Given the description of an element on the screen output the (x, y) to click on. 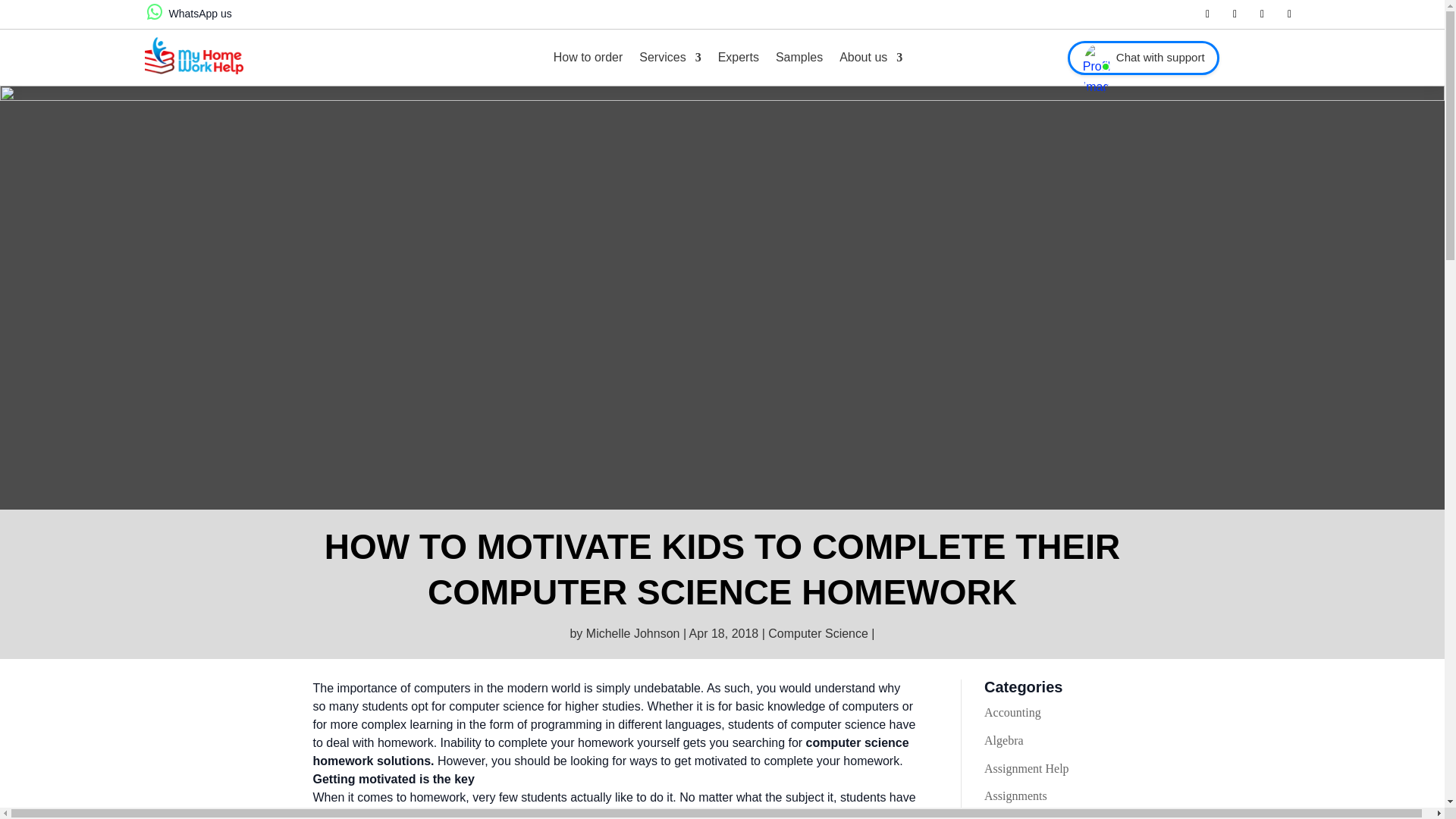
How to order (588, 57)
Hero-Logo (193, 55)
Services (669, 57)
Follow on X (1234, 14)
Follow on Instagram (1289, 14)
Follow on Facebook (1206, 14)
Follow on LinkedIn (1261, 14)
Posts by Michelle Johnson (632, 633)
